Given the description of an element on the screen output the (x, y) to click on. 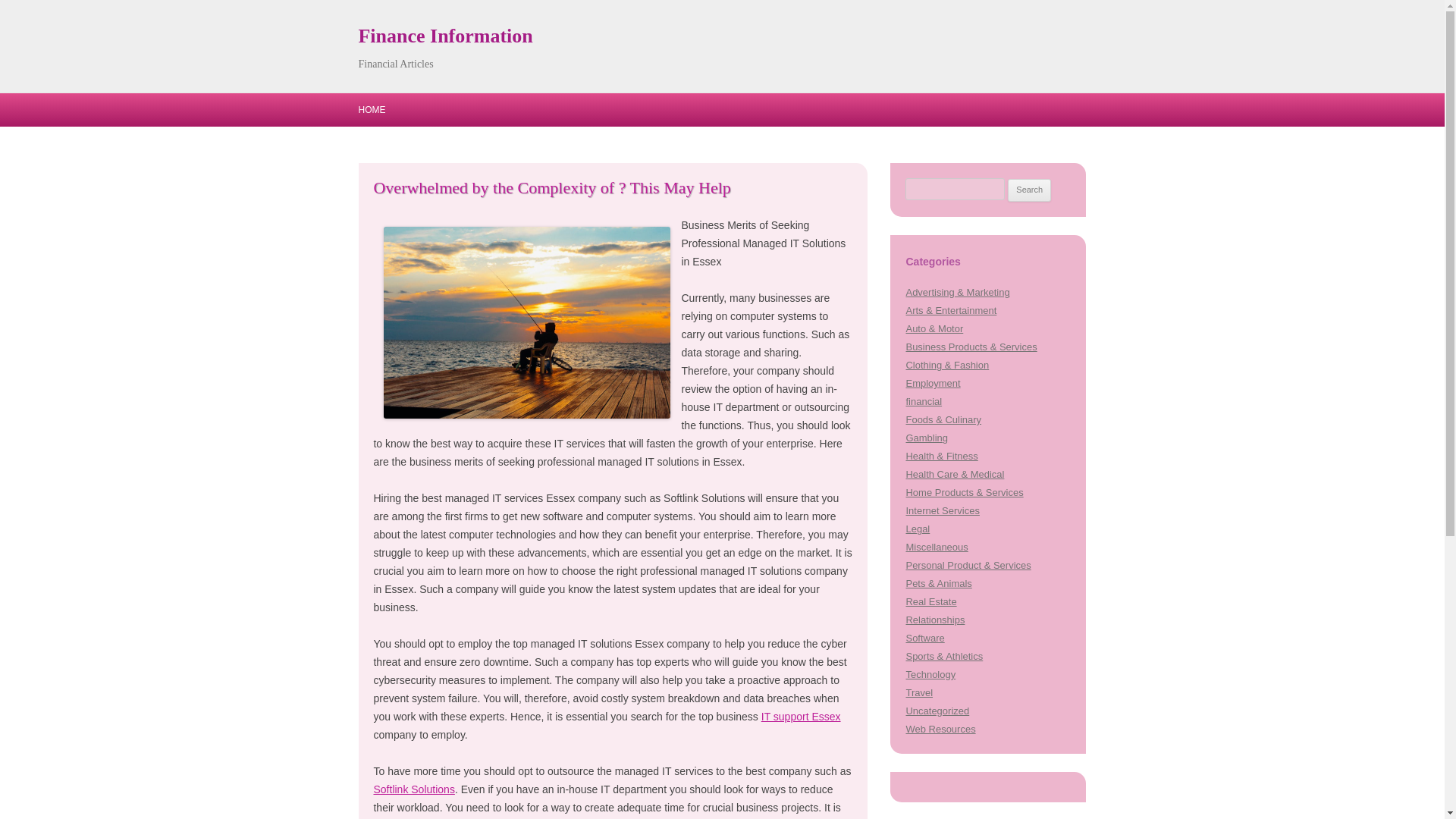
IT support Essex (801, 716)
Technology (930, 674)
Legal (917, 528)
Softlink Solutions (413, 788)
Real Estate (930, 601)
Internet Services (941, 510)
Travel (919, 692)
Uncategorized (937, 710)
Web Resources (940, 728)
